Given the description of an element on the screen output the (x, y) to click on. 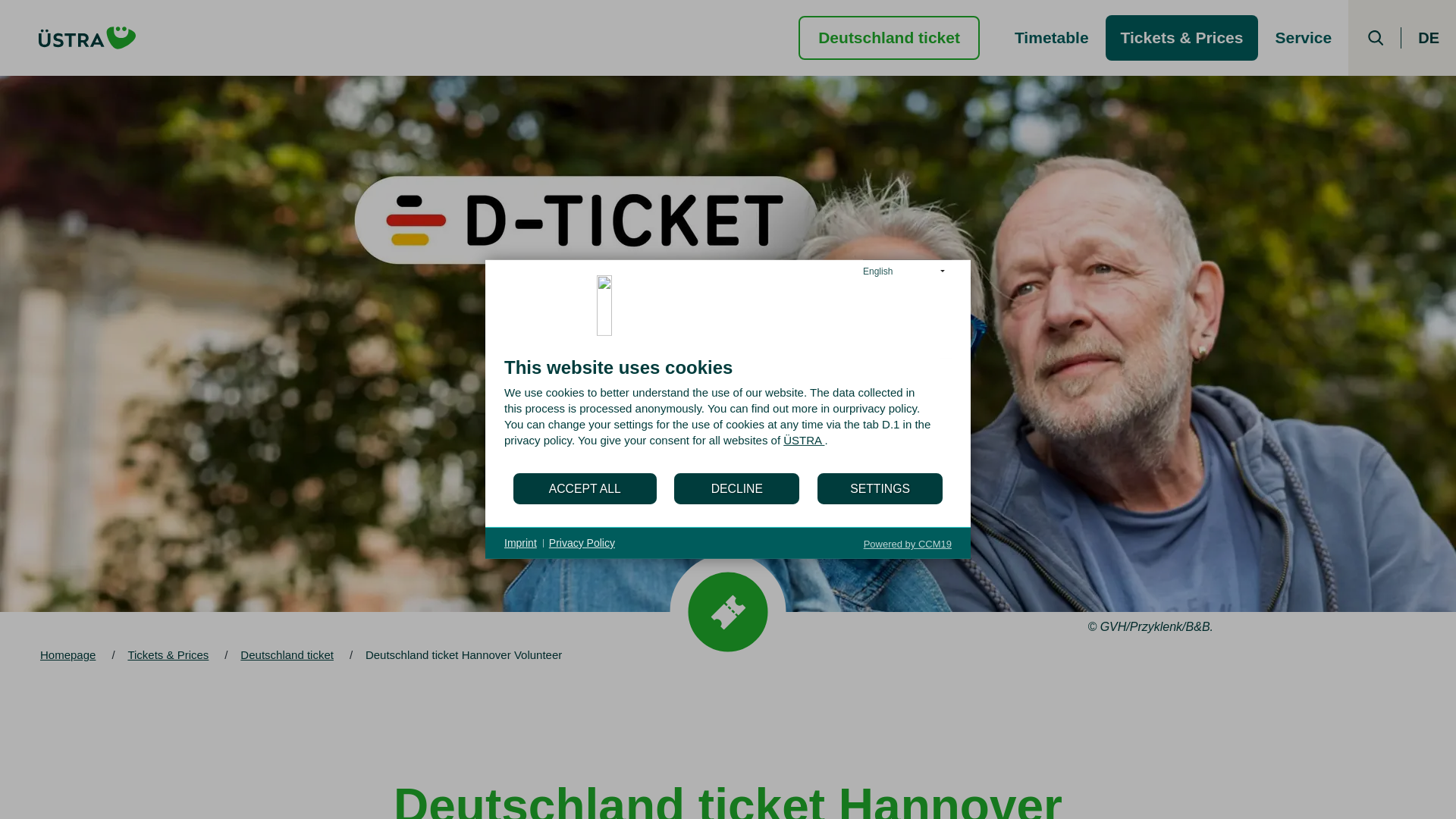
back to homepage (86, 37)
Timetable (1050, 38)
Deutschland ticket (888, 36)
